Given the description of an element on the screen output the (x, y) to click on. 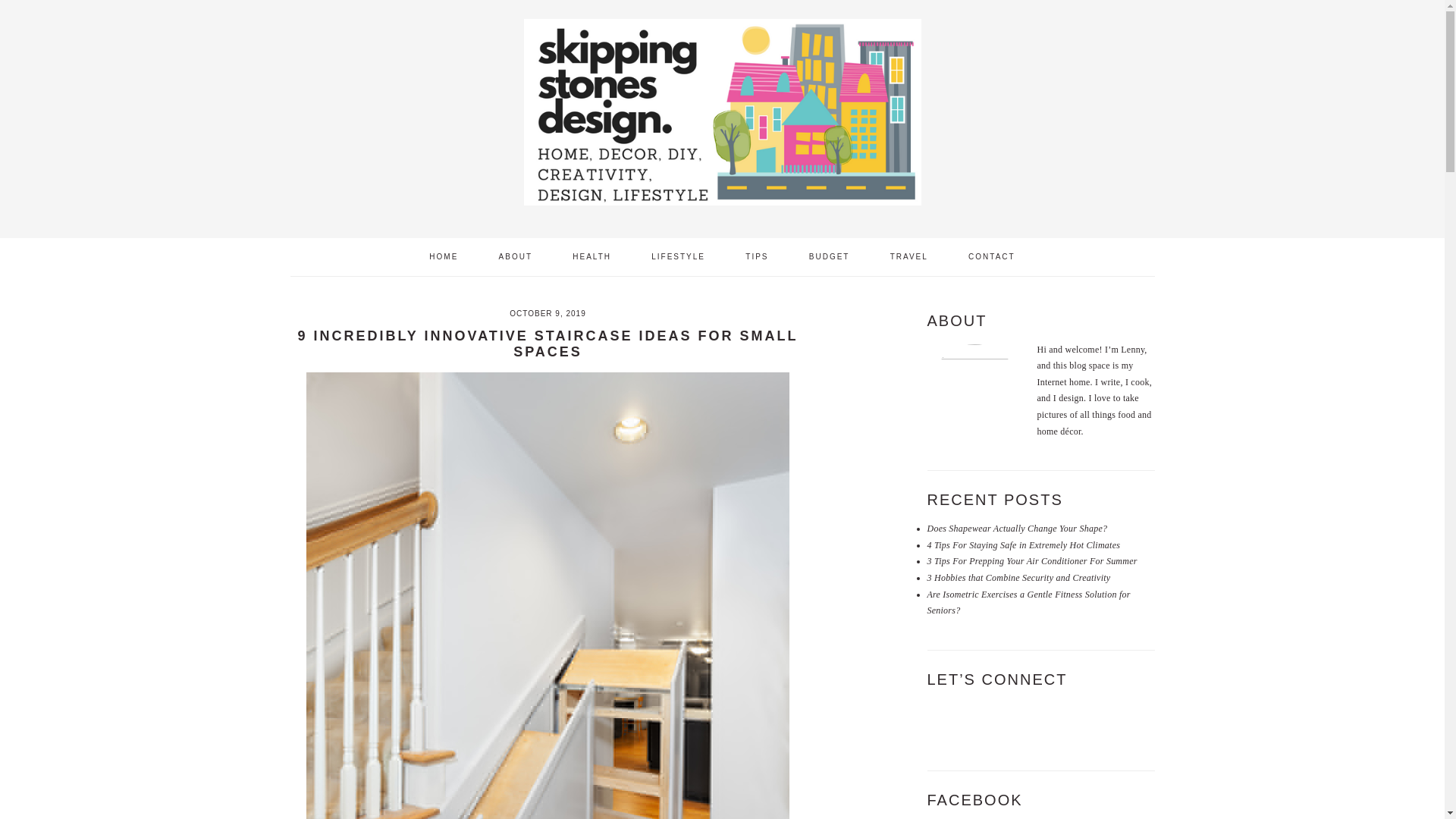
TRAVEL (908, 257)
Does Shapewear Actually Change Your Shape? (1016, 528)
HEALTH (591, 257)
HOME (443, 257)
LIFESTYLE (677, 257)
CONTACT (991, 257)
3 Tips For Prepping Your Air Conditioner For Summer (1031, 561)
ABOUT (515, 257)
SKIPPING STONE DESIGN (721, 113)
TIPS (756, 257)
3 Hobbies that Combine Security and Creativity (1017, 577)
BUDGET (829, 257)
4 Tips For Staying Safe in Extremely Hot Climates (1022, 544)
